Given the description of an element on the screen output the (x, y) to click on. 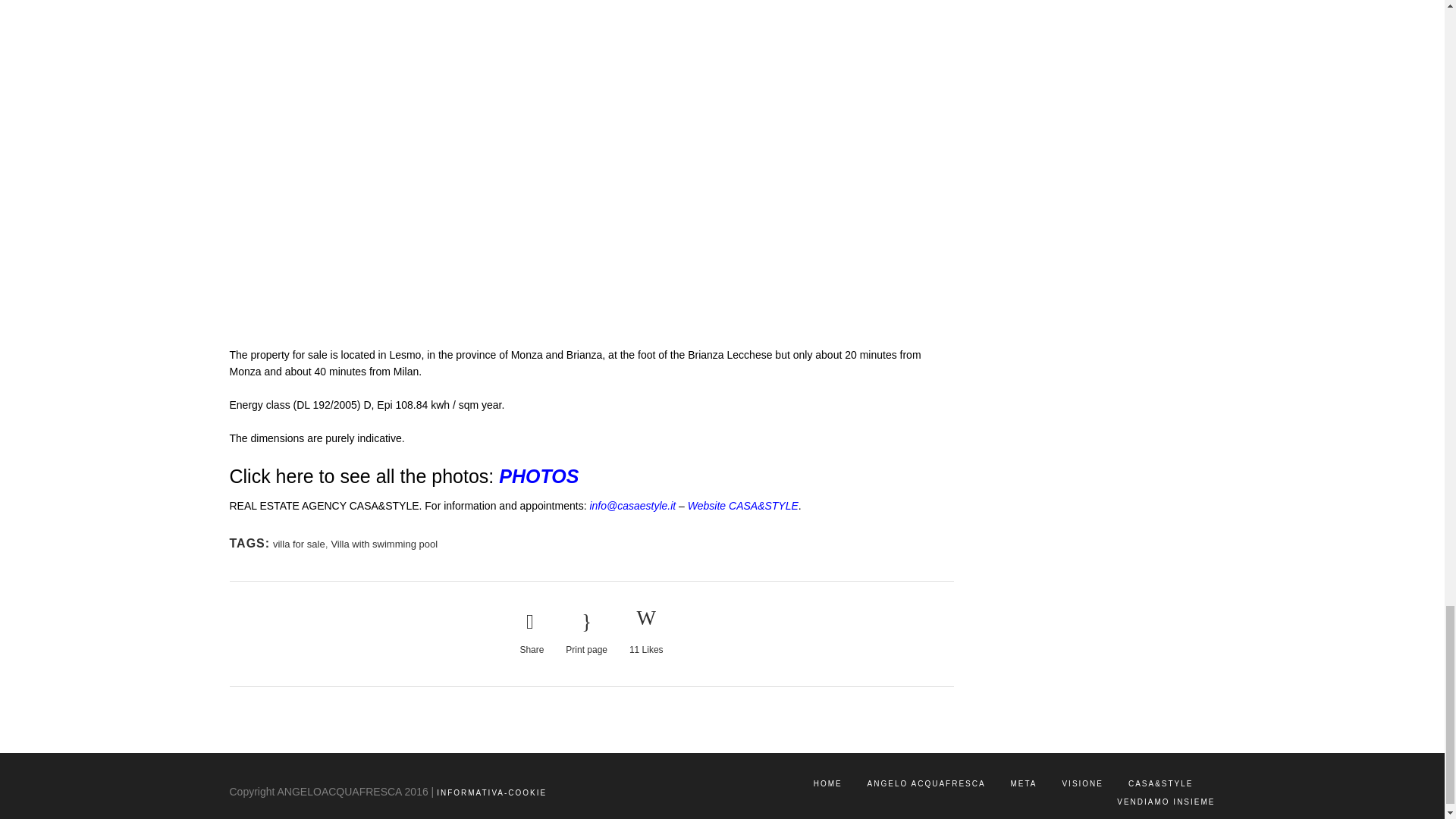
PHOTOS (538, 476)
Print page (586, 633)
villa for sale (298, 543)
Villa with swimming pool (384, 543)
